Given the description of an element on the screen output the (x, y) to click on. 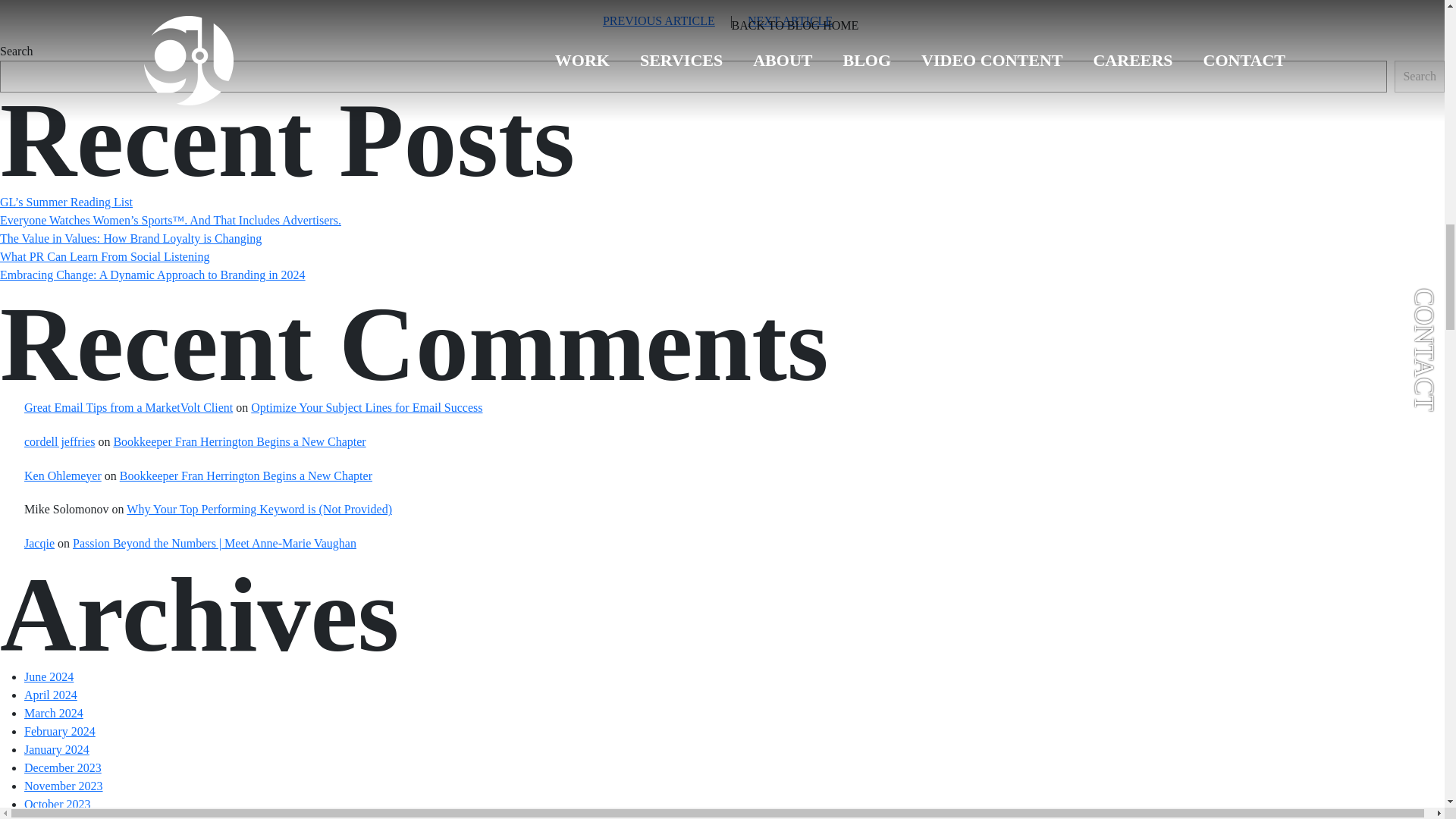
Search (1419, 76)
Jacqie (39, 543)
PREVIOUS ARTICLE (658, 20)
Bookkeeper Fran Herrington Begins a New Chapter (239, 440)
What PR Can Learn From Social Listening (104, 256)
BACK TO BLOG HOME (794, 25)
Great Email Tips from a MarketVolt Client (128, 407)
June 2024 (49, 676)
Embracing Change: A Dynamic Approach to Branding in 2024 (152, 274)
The Value in Values: How Brand Loyalty is Changing (131, 237)
NEXT ARTICLE (790, 20)
Ken Ohlemeyer (62, 475)
cordell jeffries (59, 440)
Optimize Your Subject Lines for Email Success (365, 407)
Bookkeeper Fran Herrington Begins a New Chapter (245, 475)
